Given the description of an element on the screen output the (x, y) to click on. 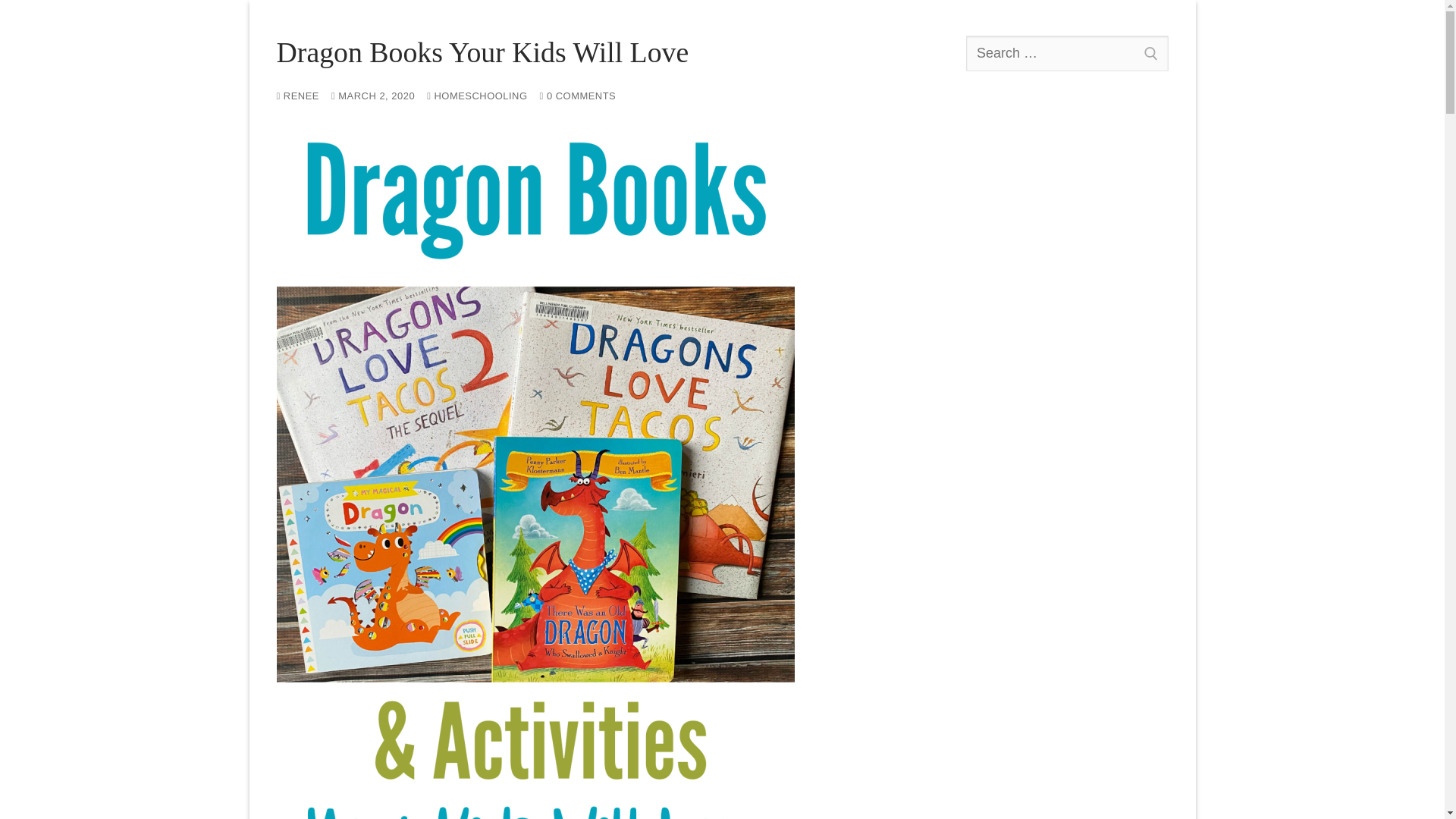
0 COMMENTS (577, 94)
HOMESCHOOLING (476, 94)
MARCH 2, 2020 (372, 94)
Search for: (1067, 53)
RENEE (297, 94)
